Given the description of an element on the screen output the (x, y) to click on. 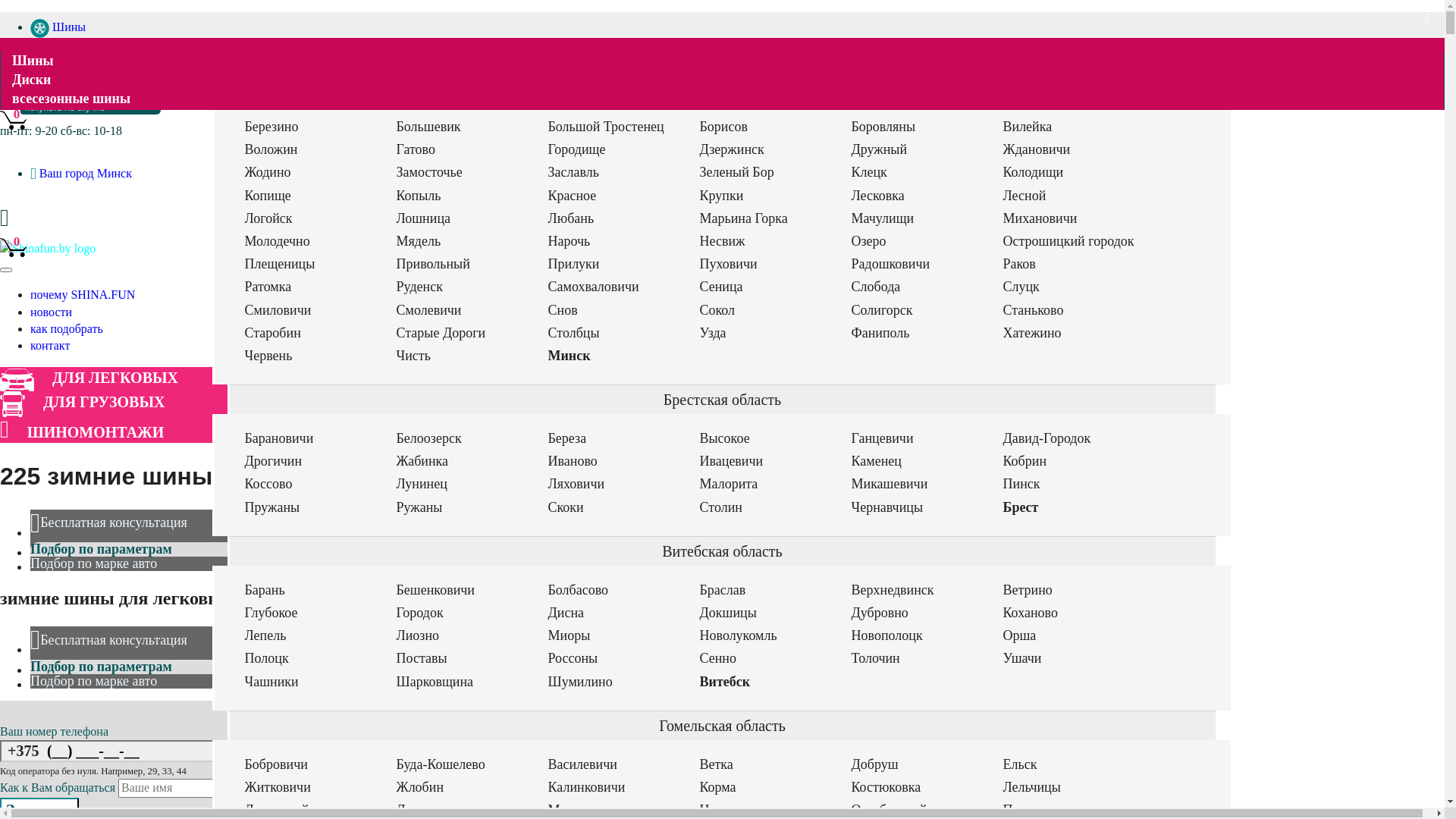
0 Element type: text (13, 118)
0 Element type: text (13, 246)
(033) 396-01-13 Element type: text (51, 99)
(033) 396-01-13 Element type: text (75, 56)
